Given the description of an element on the screen output the (x, y) to click on. 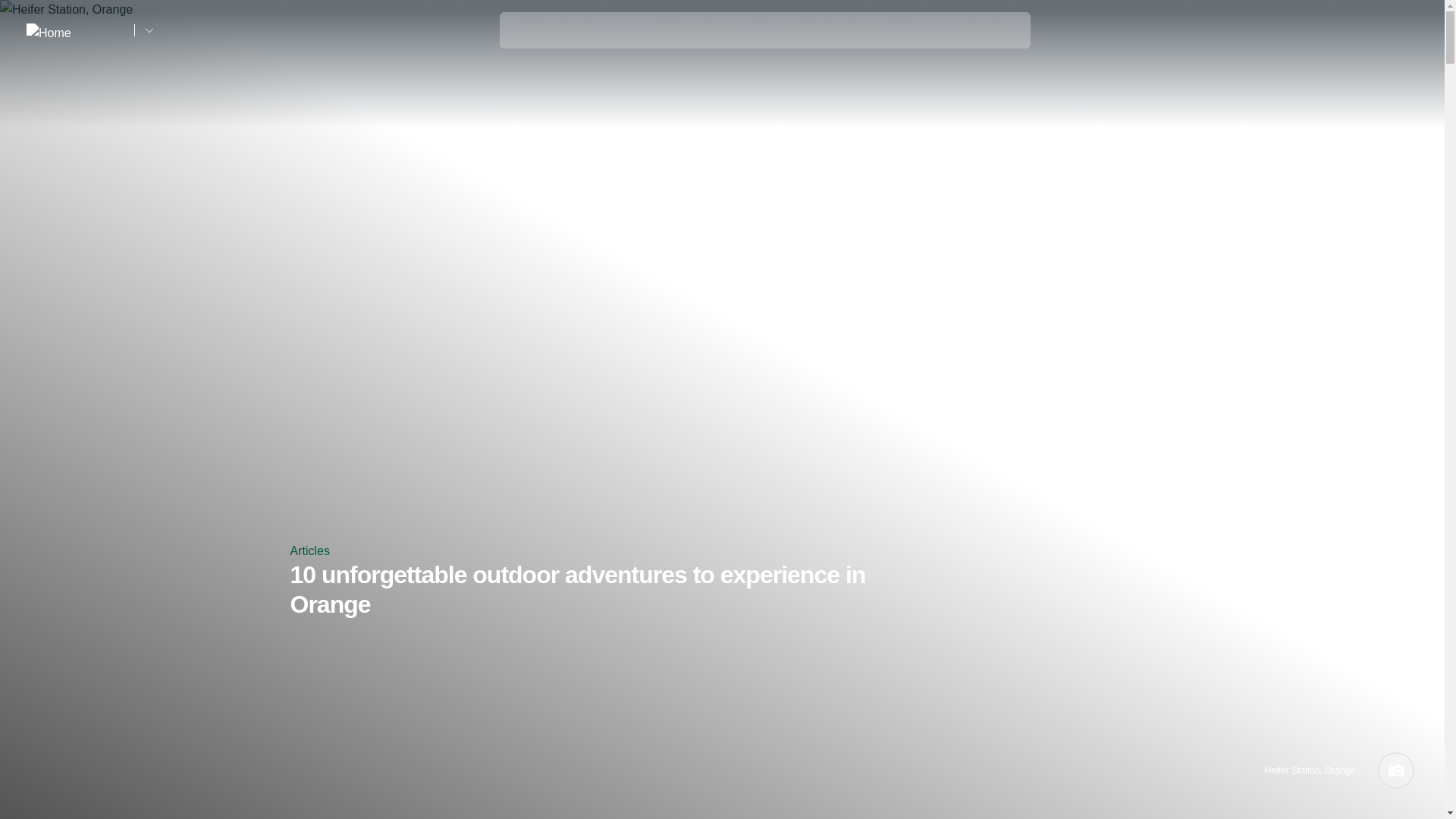
Home (74, 29)
Open (1407, 29)
Submit the search query. (520, 27)
Go to (148, 30)
Toggle navigation (1407, 31)
